Given the description of an element on the screen output the (x, y) to click on. 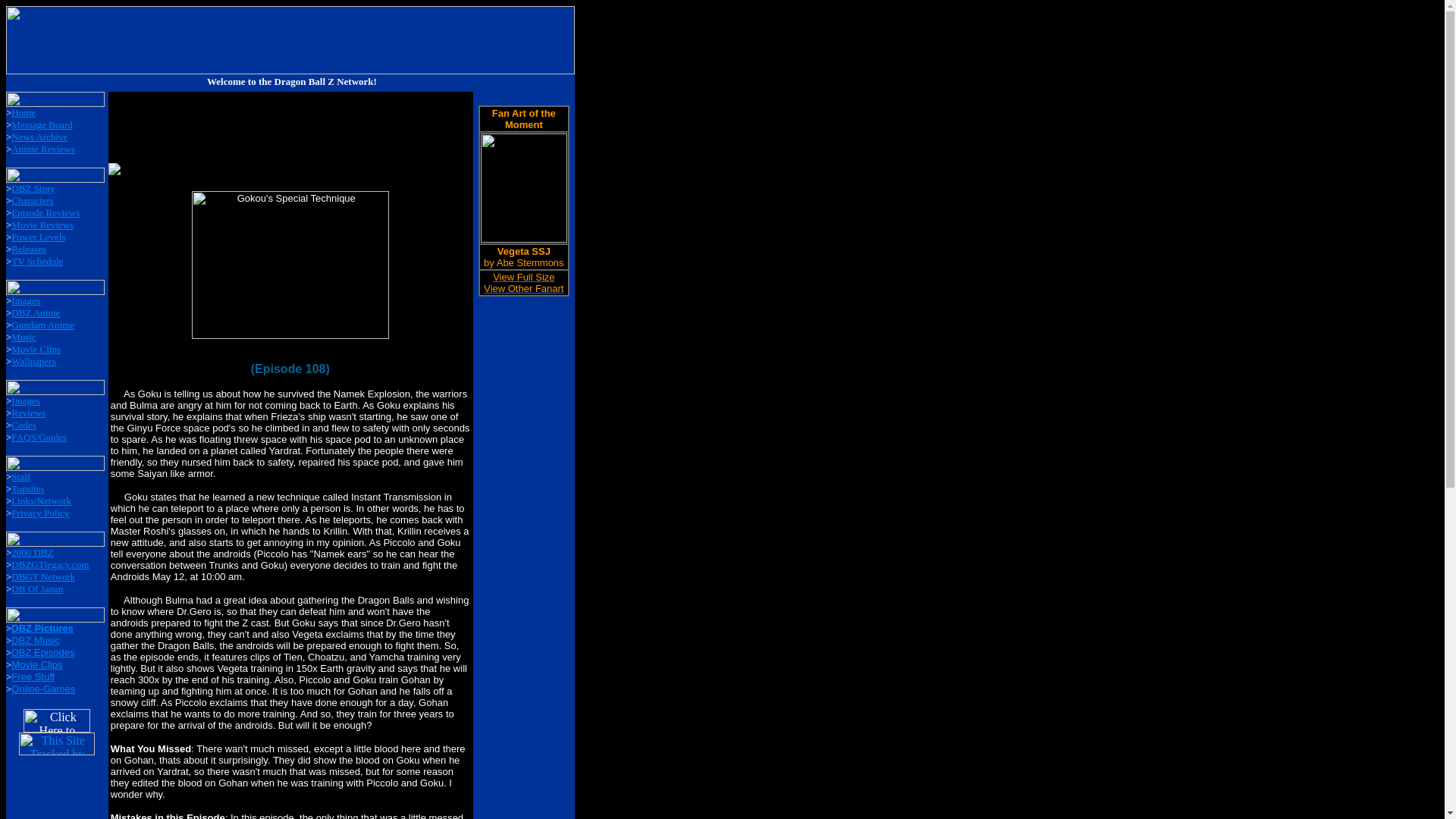
News Archive (38, 136)
2000 DBZ (31, 552)
Topsites (27, 488)
Free Stuff (33, 676)
Movie Clips (36, 664)
Reviews (28, 412)
Music (23, 337)
DBGT Network (43, 576)
Characters (32, 200)
Anime Reviews (42, 148)
